Given the description of an element on the screen output the (x, y) to click on. 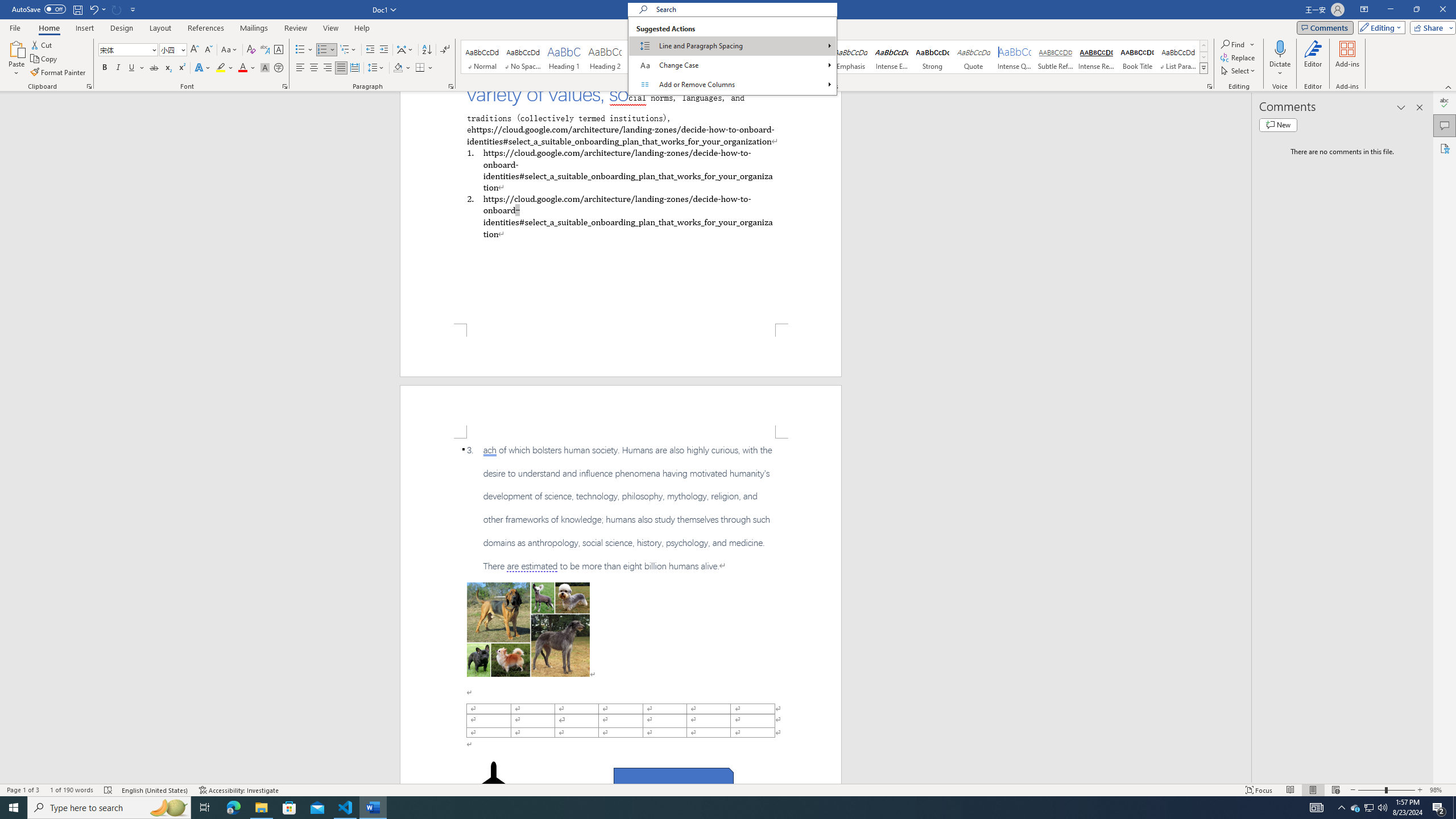
Office Clipboard... (88, 85)
Customize Quick Access Toolbar (133, 9)
2. (620, 216)
Microsoft search (742, 9)
Clear Formatting (250, 49)
Comments (1325, 27)
Collapse the Ribbon (1448, 86)
Intense Reference (1095, 56)
Font Color (246, 67)
Font... (285, 85)
Airplane with solid fill (493, 783)
Strong (932, 56)
Can't Repeat (117, 9)
AutoSave (38, 9)
Mailings (253, 28)
